Given the description of an element on the screen output the (x, y) to click on. 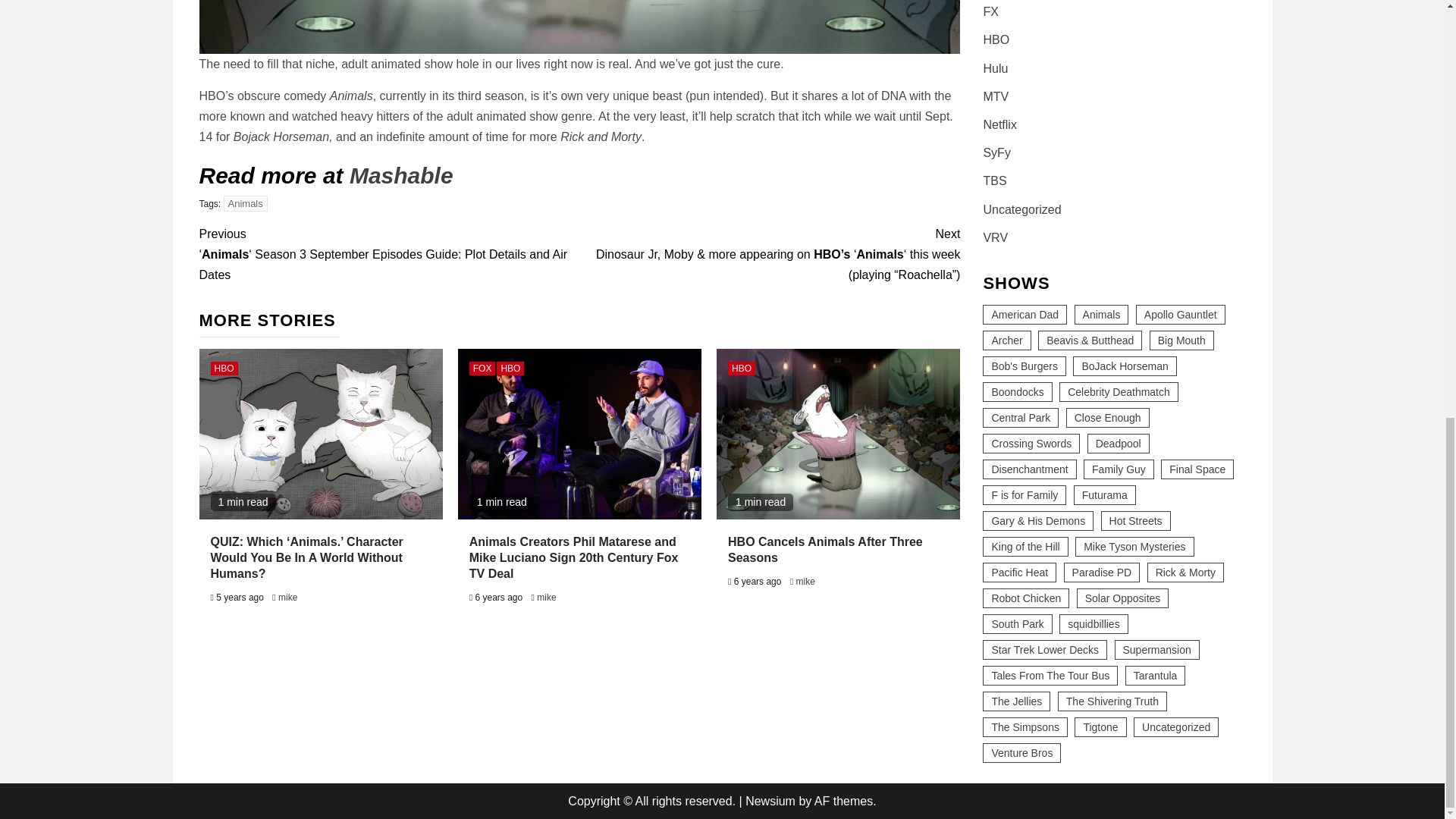
Animals (245, 203)
HBO (224, 368)
Mashable (400, 175)
